Given the description of an element on the screen output the (x, y) to click on. 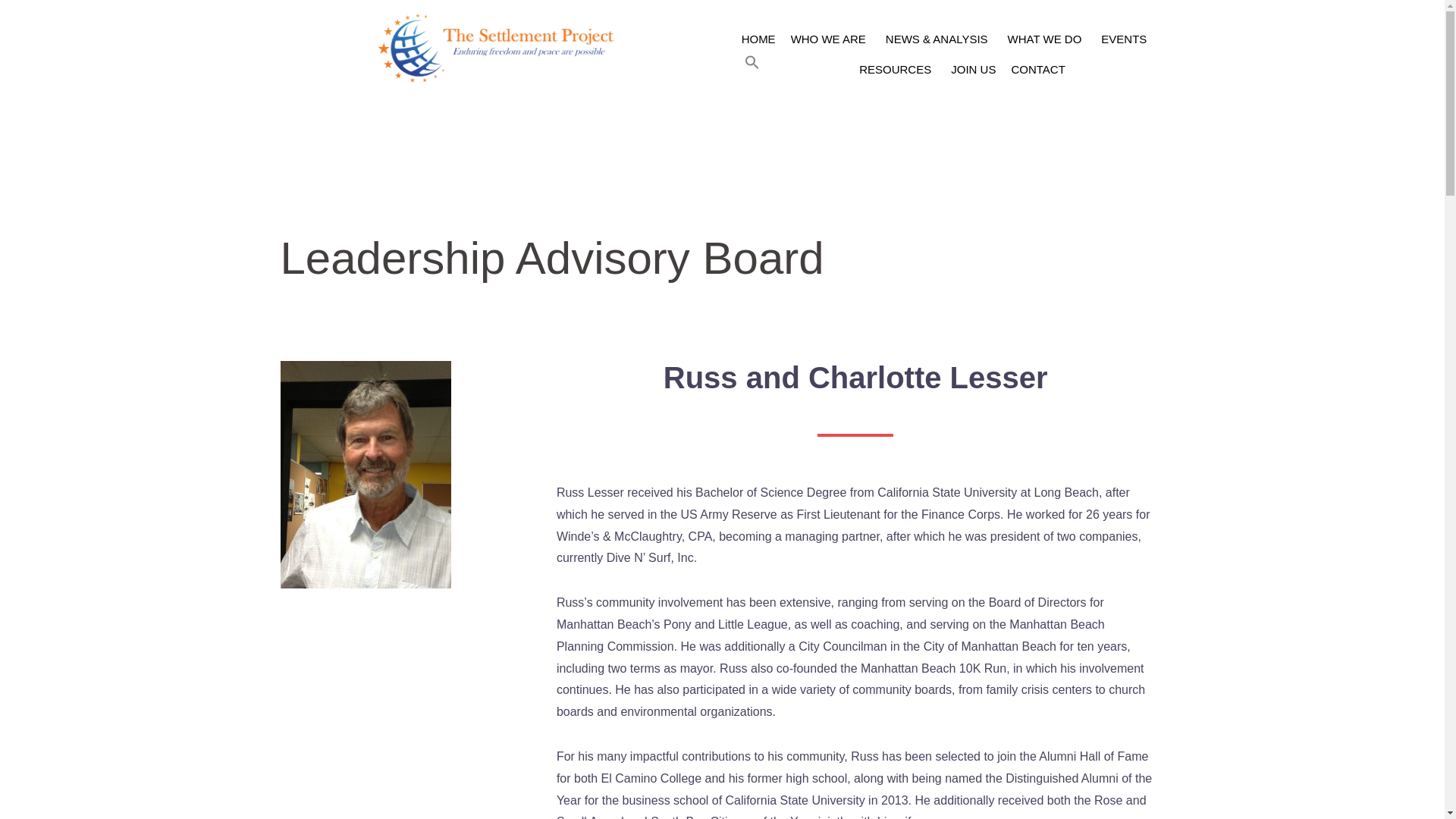
WHAT WE DO (1047, 39)
RESOURCES (897, 69)
HOME (758, 39)
EVENTS (1123, 39)
The Settlement Project (500, 47)
WHO WE ARE (830, 39)
